Given the description of an element on the screen output the (x, y) to click on. 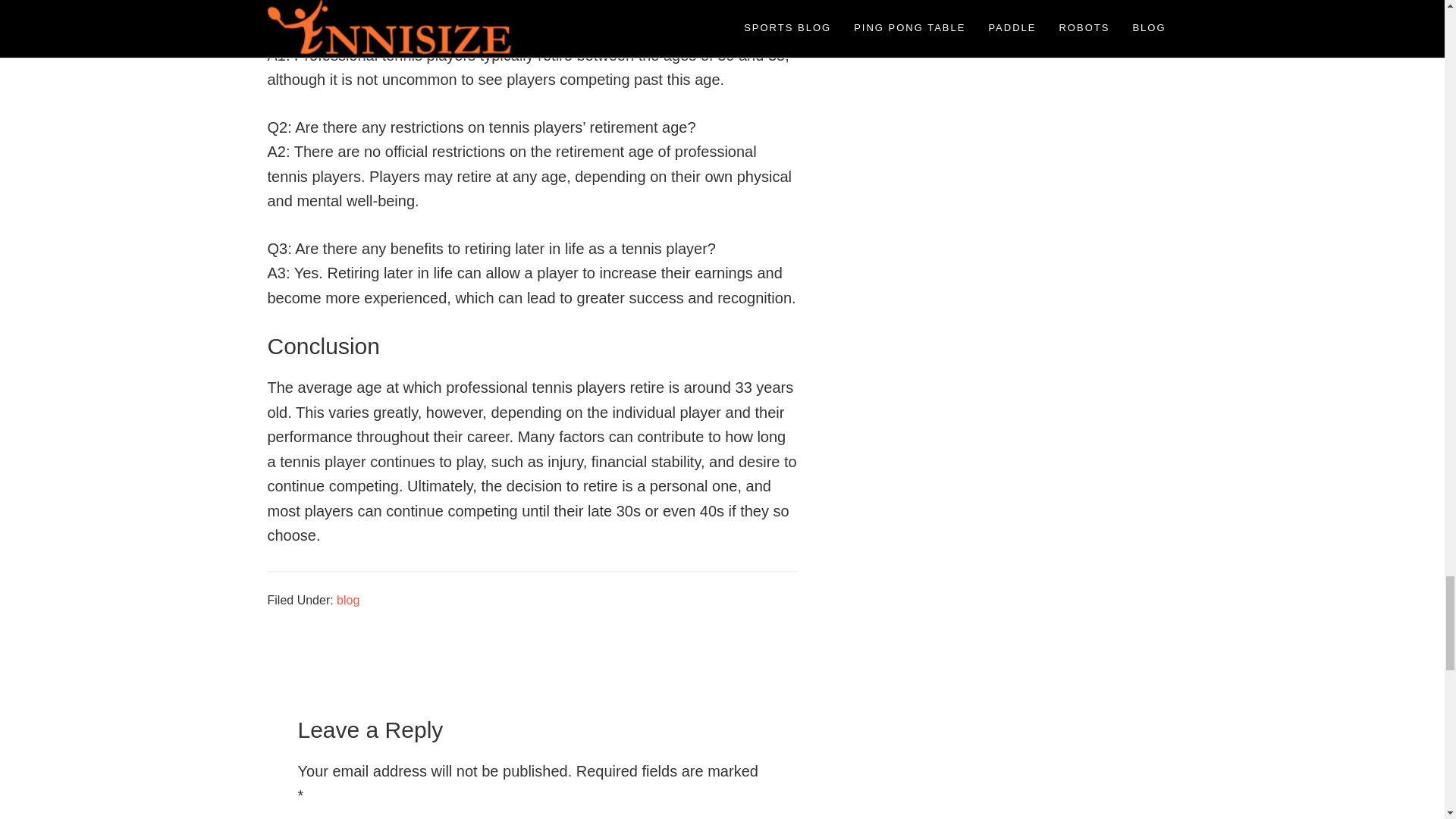
blog (347, 599)
